Given the description of an element on the screen output the (x, y) to click on. 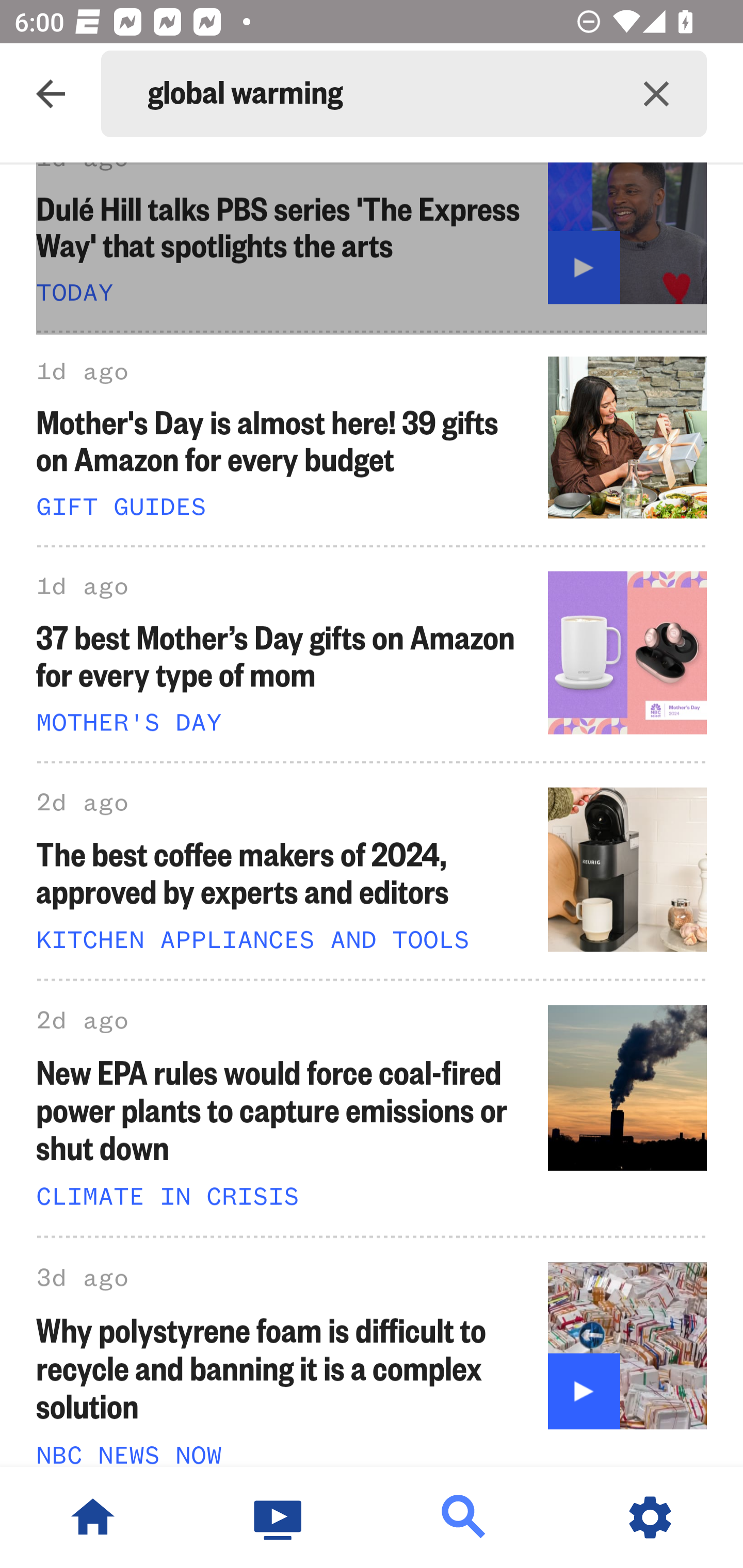
Navigate up (50, 93)
Clear query (656, 93)
global warming (376, 94)
NBC News Home (92, 1517)
Watch (278, 1517)
Settings (650, 1517)
